Given the description of an element on the screen output the (x, y) to click on. 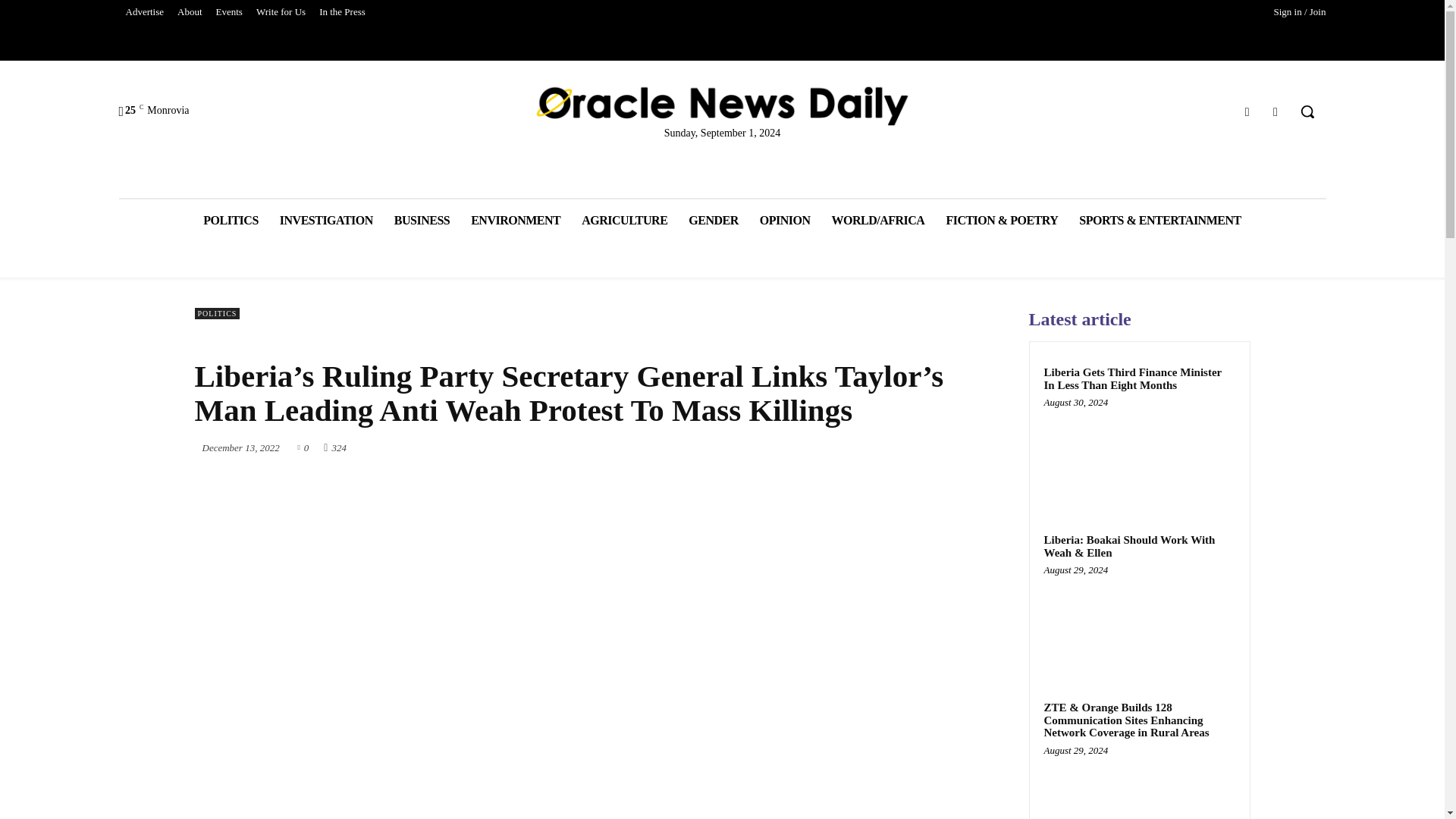
Facebook (1246, 111)
BUSINESS (422, 219)
Twitter (1275, 111)
POLITICS (229, 219)
GENDER (713, 219)
Write for Us (280, 12)
OPINION (785, 219)
Events (228, 12)
INVESTIGATION (326, 219)
About (189, 12)
